Given the description of an element on the screen output the (x, y) to click on. 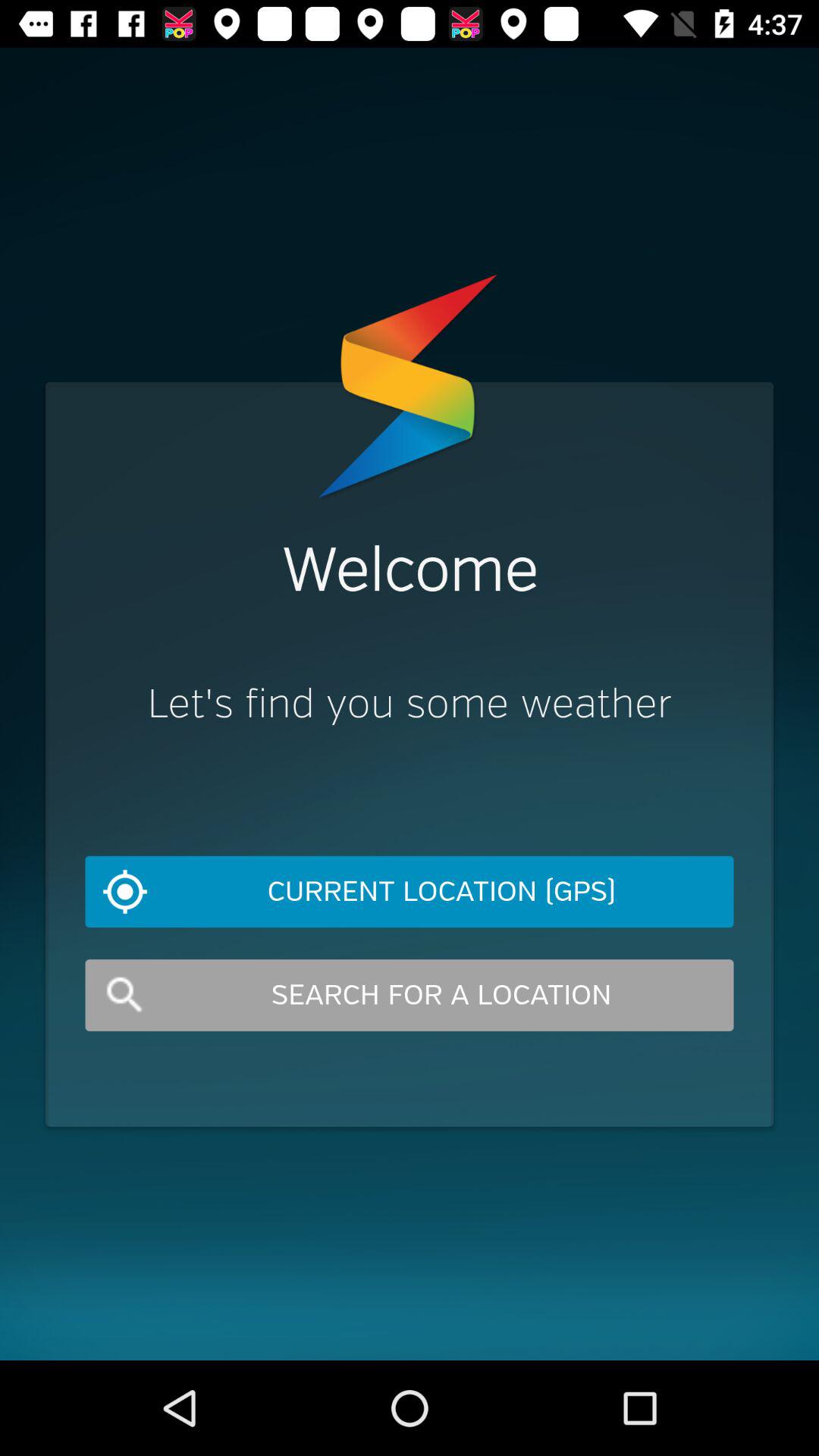
turn off icon below let s find item (409, 891)
